Given the description of an element on the screen output the (x, y) to click on. 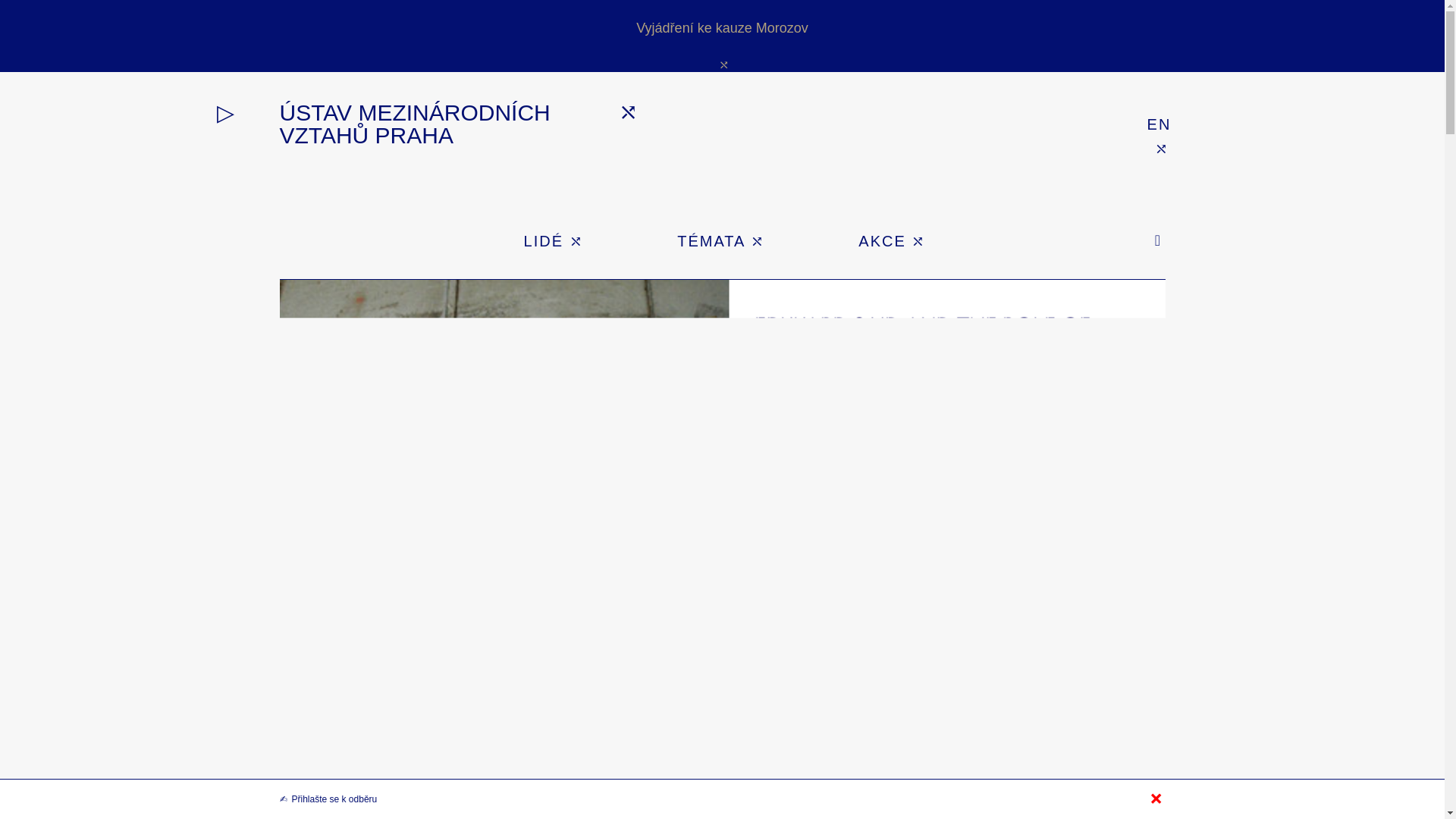
AKCE (892, 240)
EN (1158, 124)
English (1158, 124)
